Given the description of an element on the screen output the (x, y) to click on. 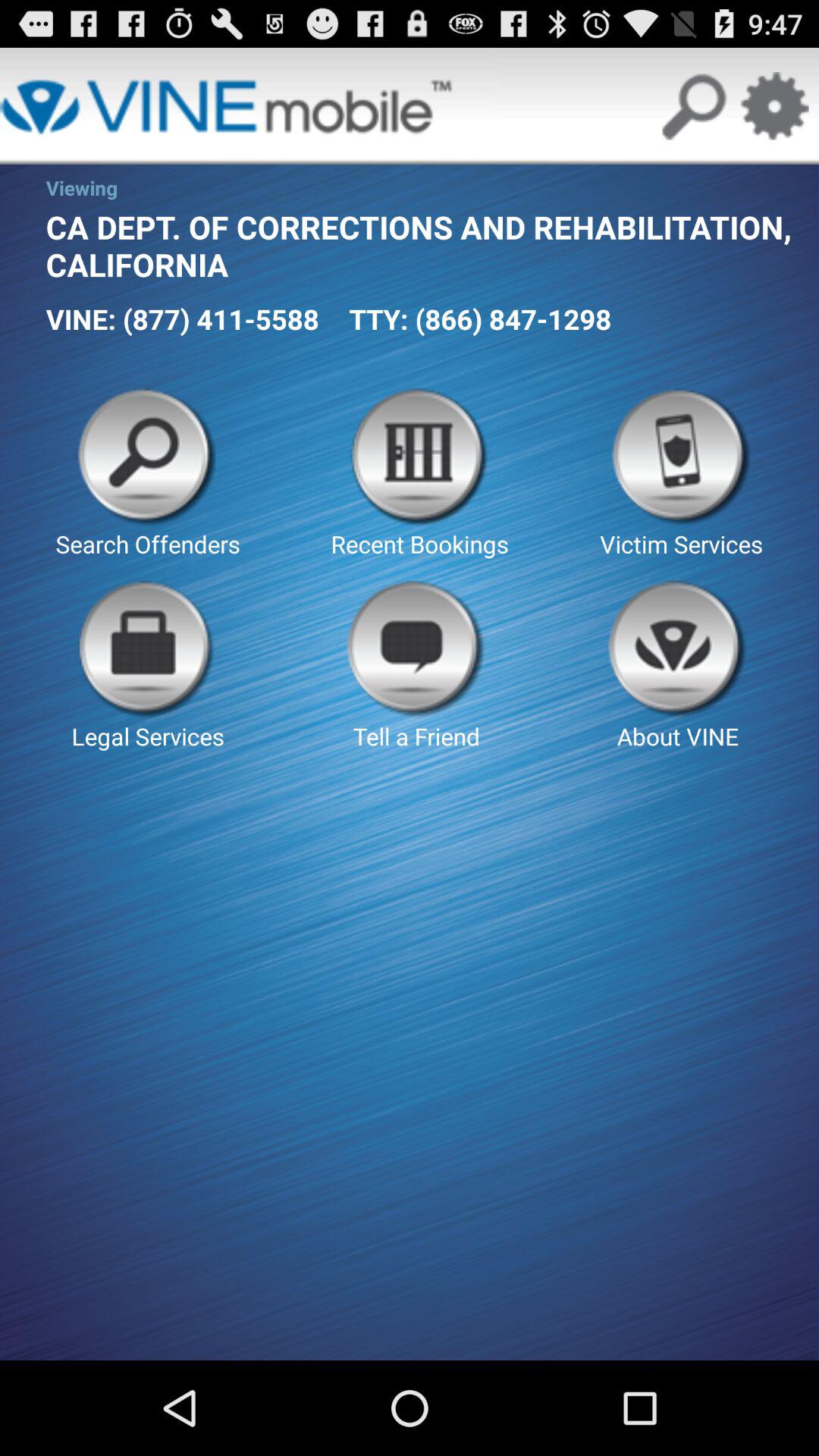
choose recent bookings button (419, 474)
